Given the description of an element on the screen output the (x, y) to click on. 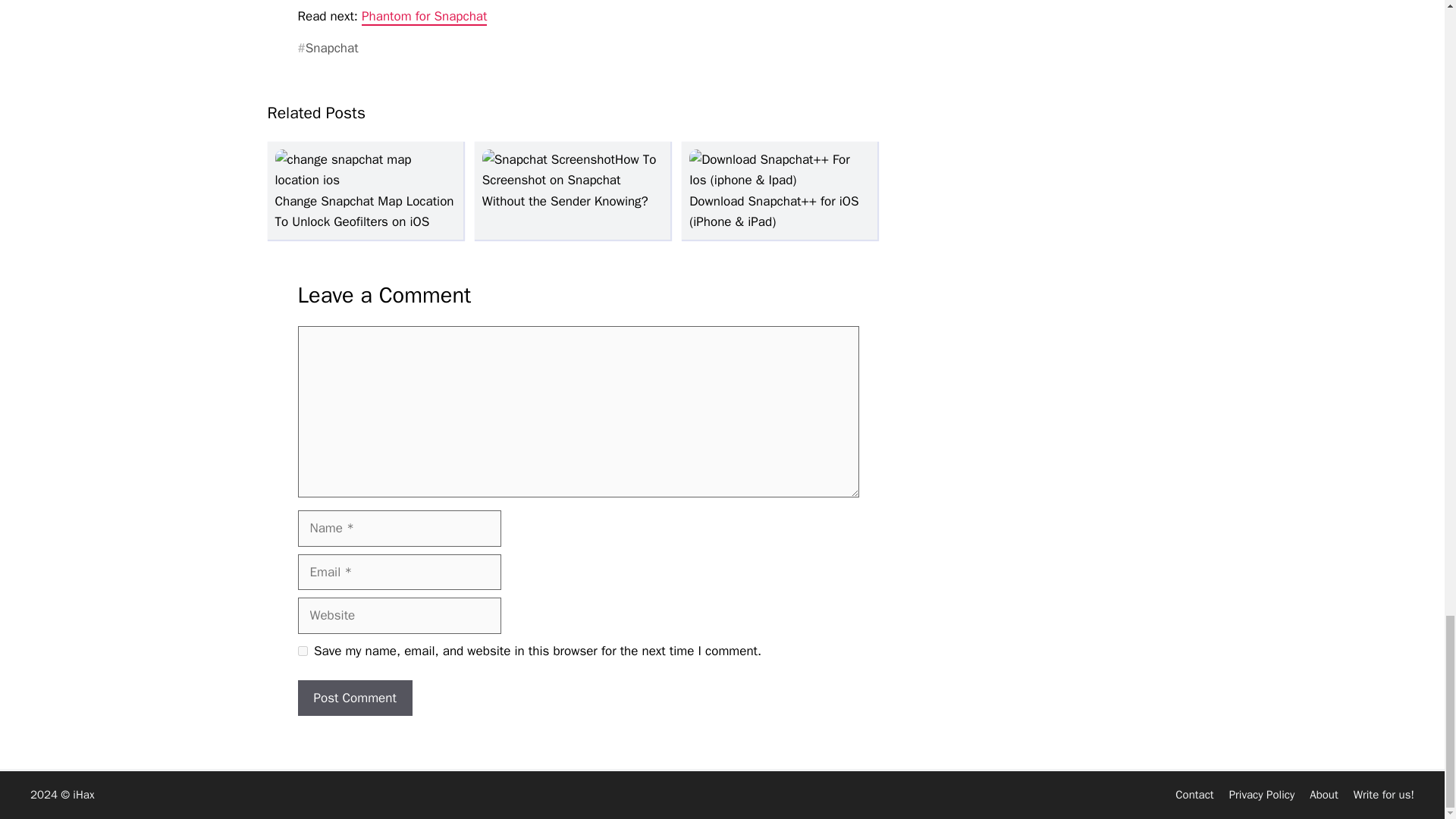
Post Comment (354, 698)
Privacy Policy (1261, 794)
How To Screenshot on Snapchat Without the Sender Knowing? (568, 179)
Snapchat (327, 48)
Write for us! (1383, 794)
Phantom for Snapchat (423, 16)
Contact (1193, 794)
Post Comment (354, 698)
Change Snapchat Map Location To Unlock Geofilters on iOS (364, 200)
yes (302, 651)
About (1323, 794)
